Given the description of an element on the screen output the (x, y) to click on. 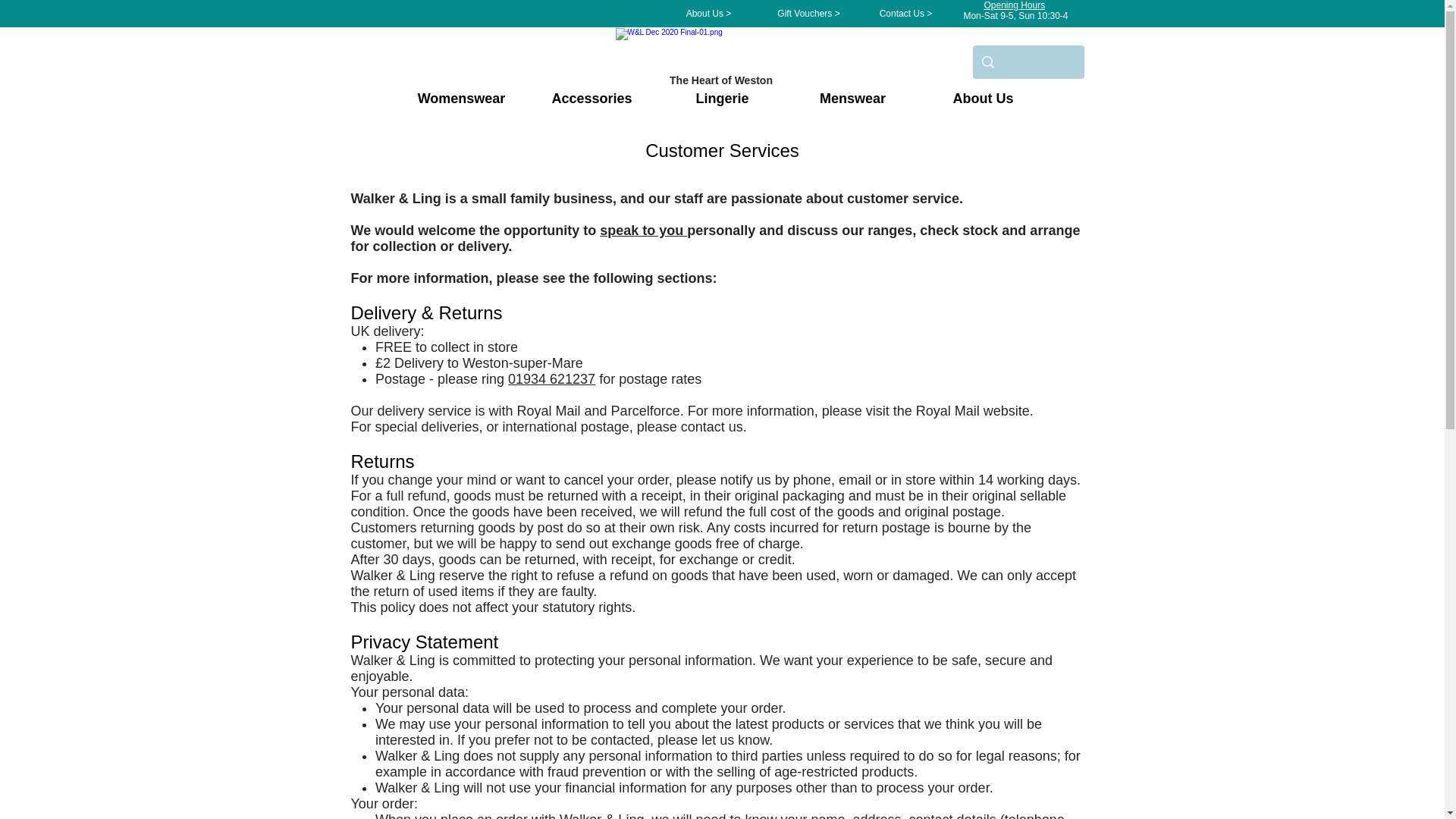
speak to you (643, 230)
About Us (983, 98)
Lingerie (722, 98)
Opening Hours  (1015, 5)
Womenswear (461, 98)
Menswear (853, 98)
01934 621237 (551, 378)
Royal Mail website (972, 410)
Accessories (592, 98)
